Given the description of an element on the screen output the (x, y) to click on. 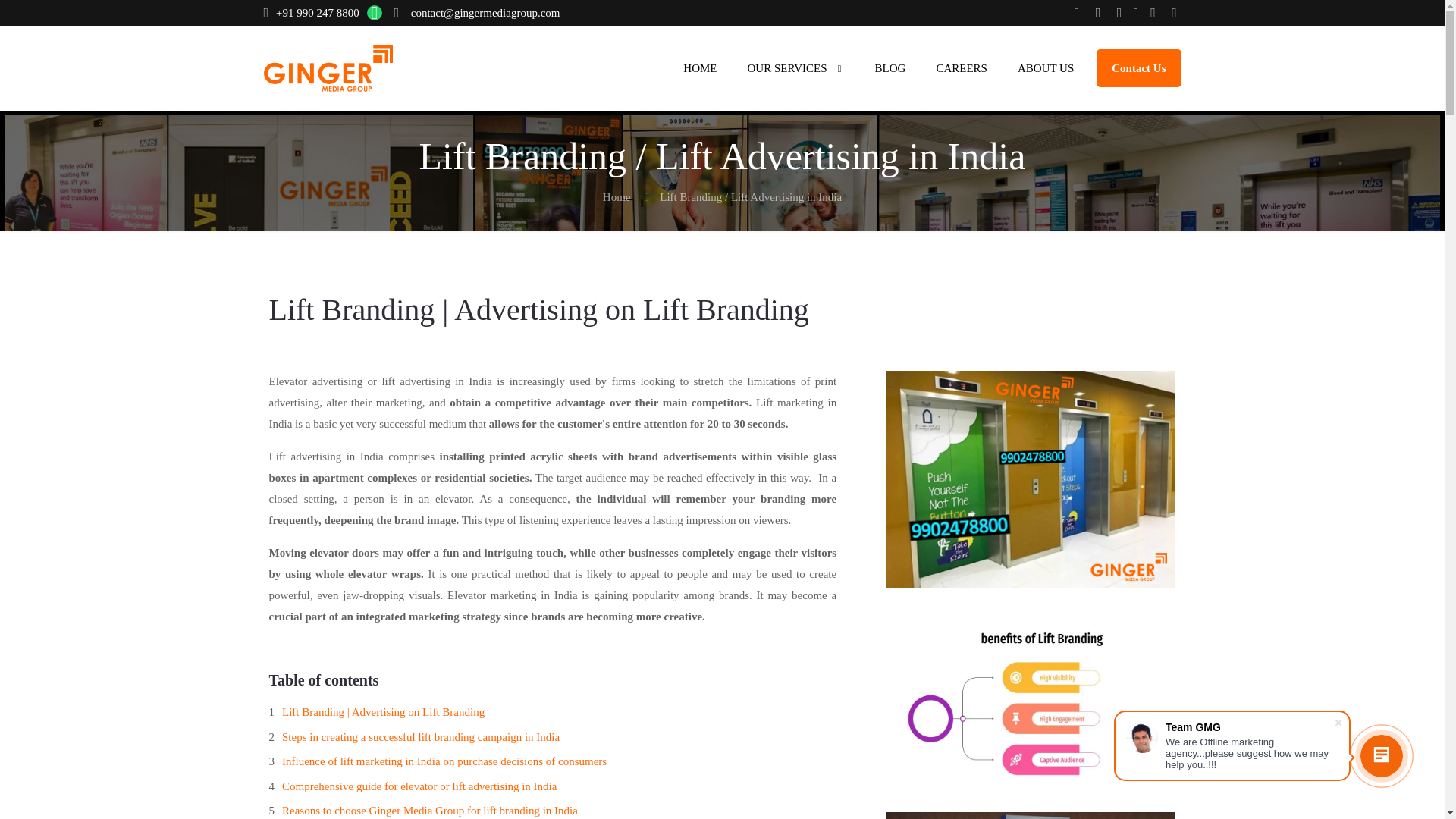
HOME (700, 68)
OUR SERVICES (795, 68)
